Given the description of an element on the screen output the (x, y) to click on. 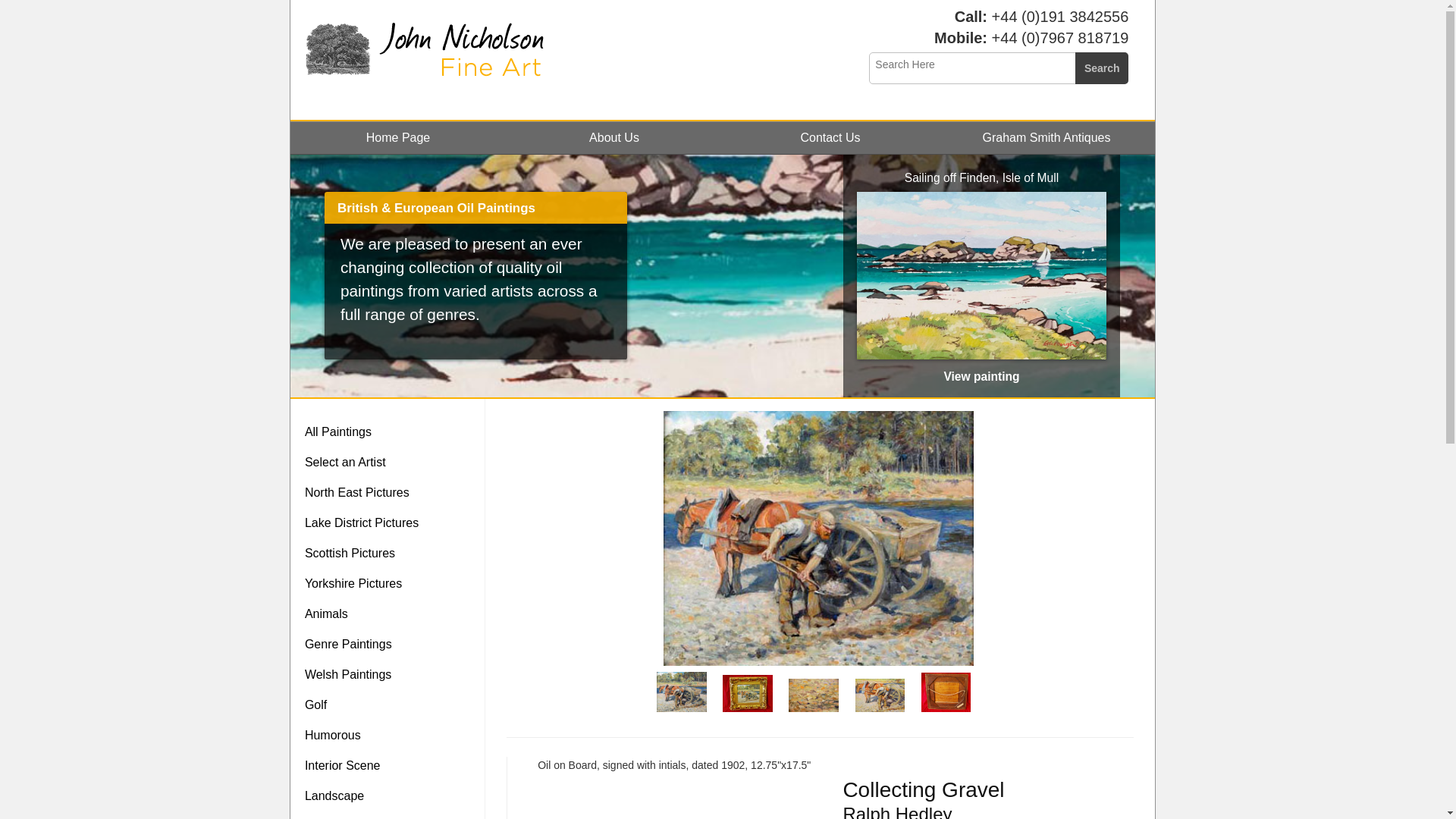
Genre Paintings (391, 644)
Select an Artist (391, 462)
Graham Smith Antiques (1046, 137)
Welsh Paintings (391, 675)
Humorous (391, 735)
Golf (391, 705)
Animals (391, 613)
Home Page (397, 137)
View painting (981, 375)
Marine and Coastal (391, 815)
Contact Us (829, 137)
Lake District Pictures (391, 522)
About Us (614, 137)
Search (1101, 68)
Scottish Pictures (391, 553)
